Given the description of an element on the screen output the (x, y) to click on. 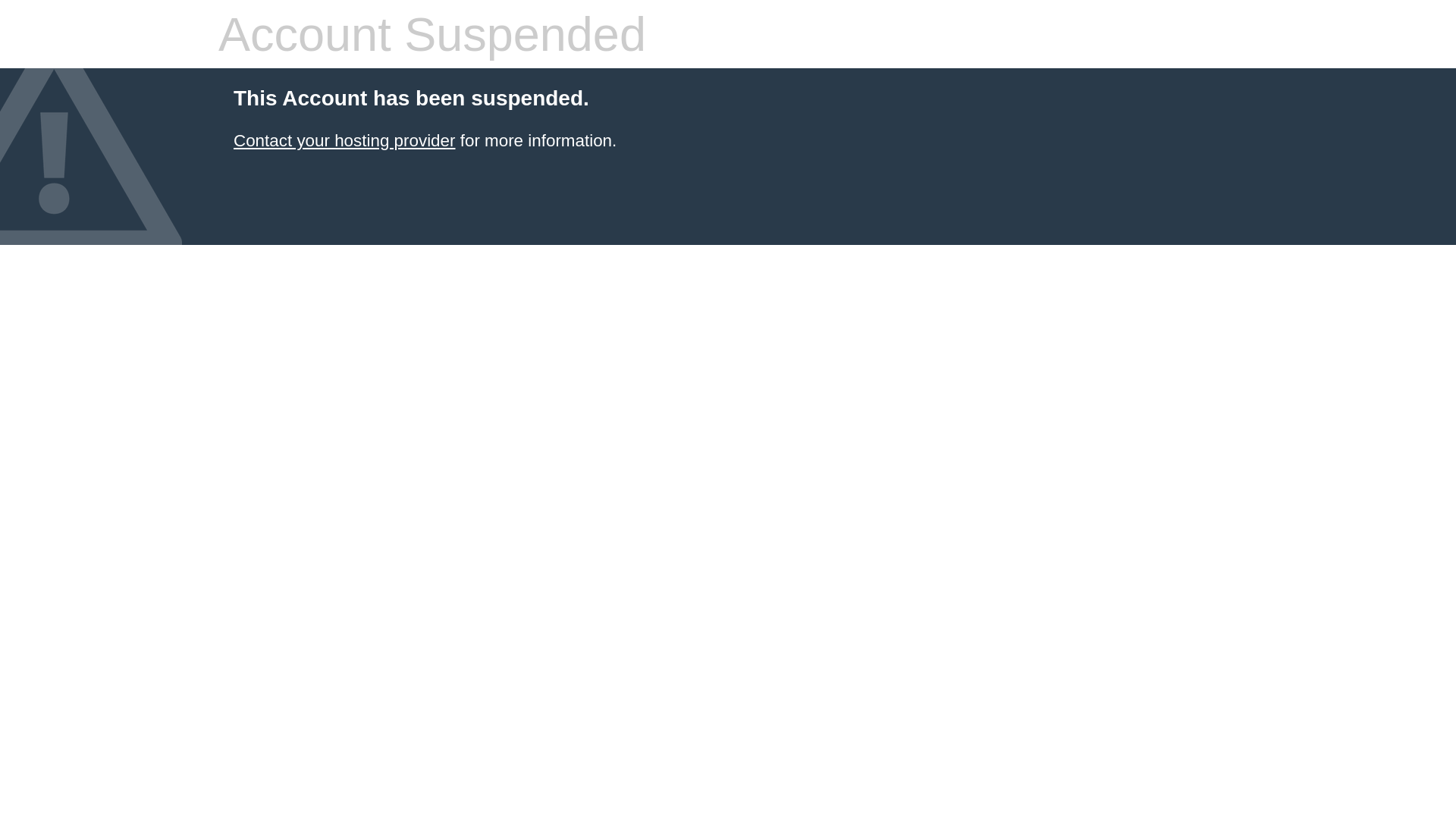
Contact your hosting provider Element type: text (344, 140)
